Given the description of an element on the screen output the (x, y) to click on. 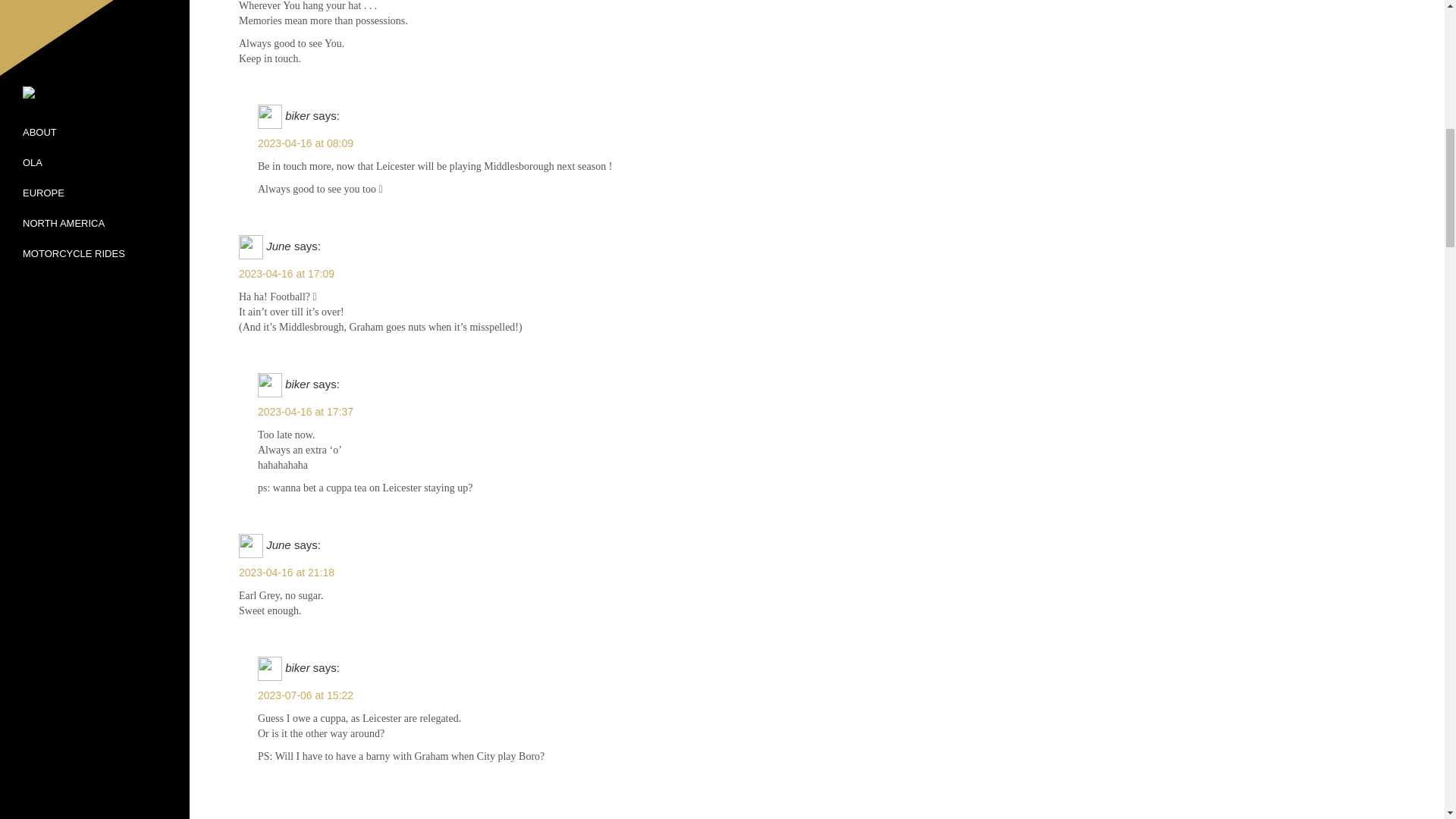
2023-04-16 at 08:09 (844, 143)
2023-07-06 at 15:22 (844, 695)
2023-04-16 at 17:37 (844, 412)
2023-04-16 at 21:18 (835, 572)
2023-04-16 at 17:09 (835, 273)
